Given the description of an element on the screen output the (x, y) to click on. 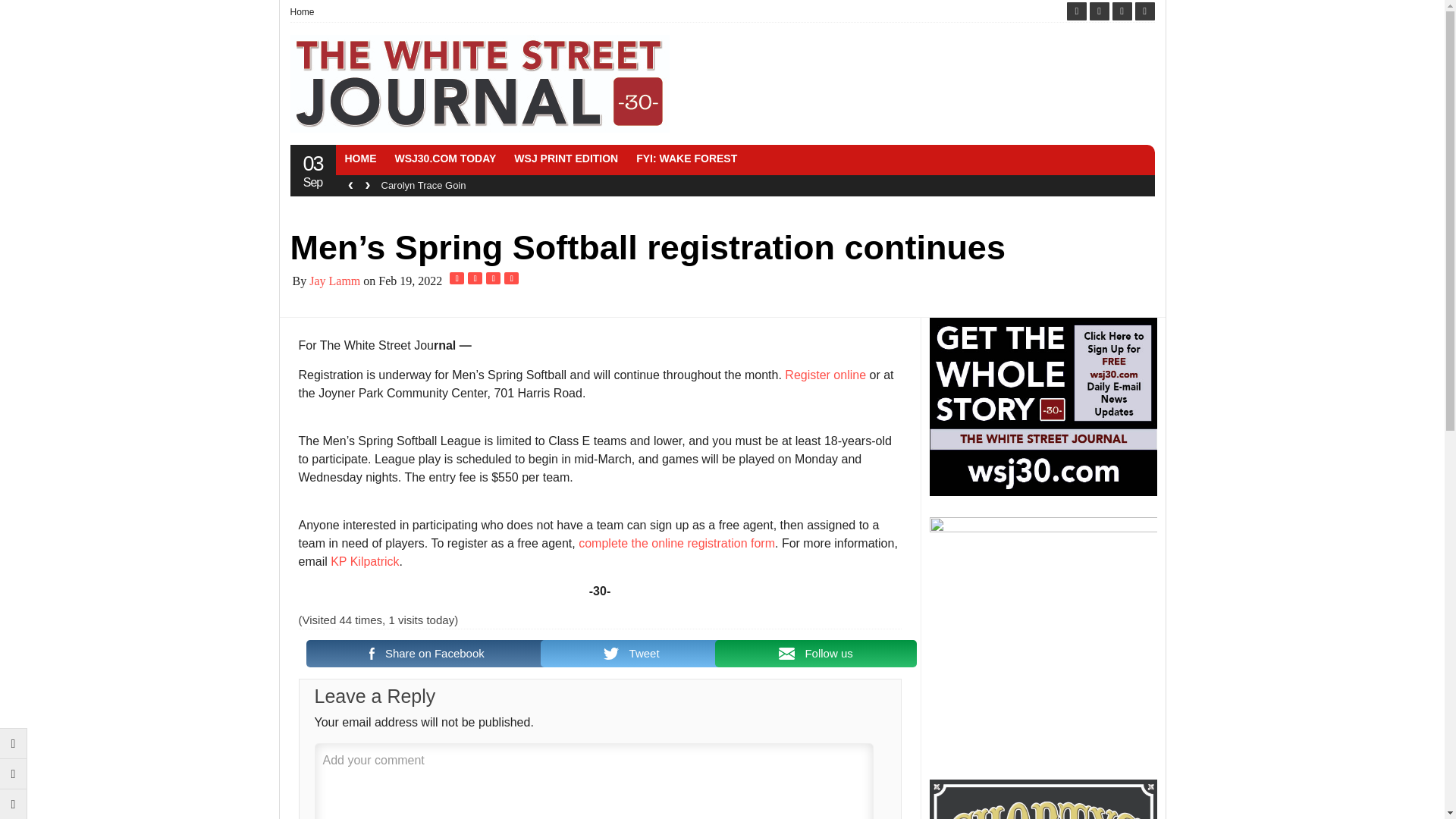
WSJ PRINT EDITION (566, 157)
Go to homepage (13, 803)
Next post: Register for Adult Co-Rec Kickball (13, 773)
Home (306, 12)
THE WHITE STREET JOURNAL (478, 83)
FYI: WAKE FOREST (686, 157)
WSJ30.COM TODAY (445, 157)
Permalink to Carolyn Trace Goin (422, 184)
HOME (359, 157)
